Given the description of an element on the screen output the (x, y) to click on. 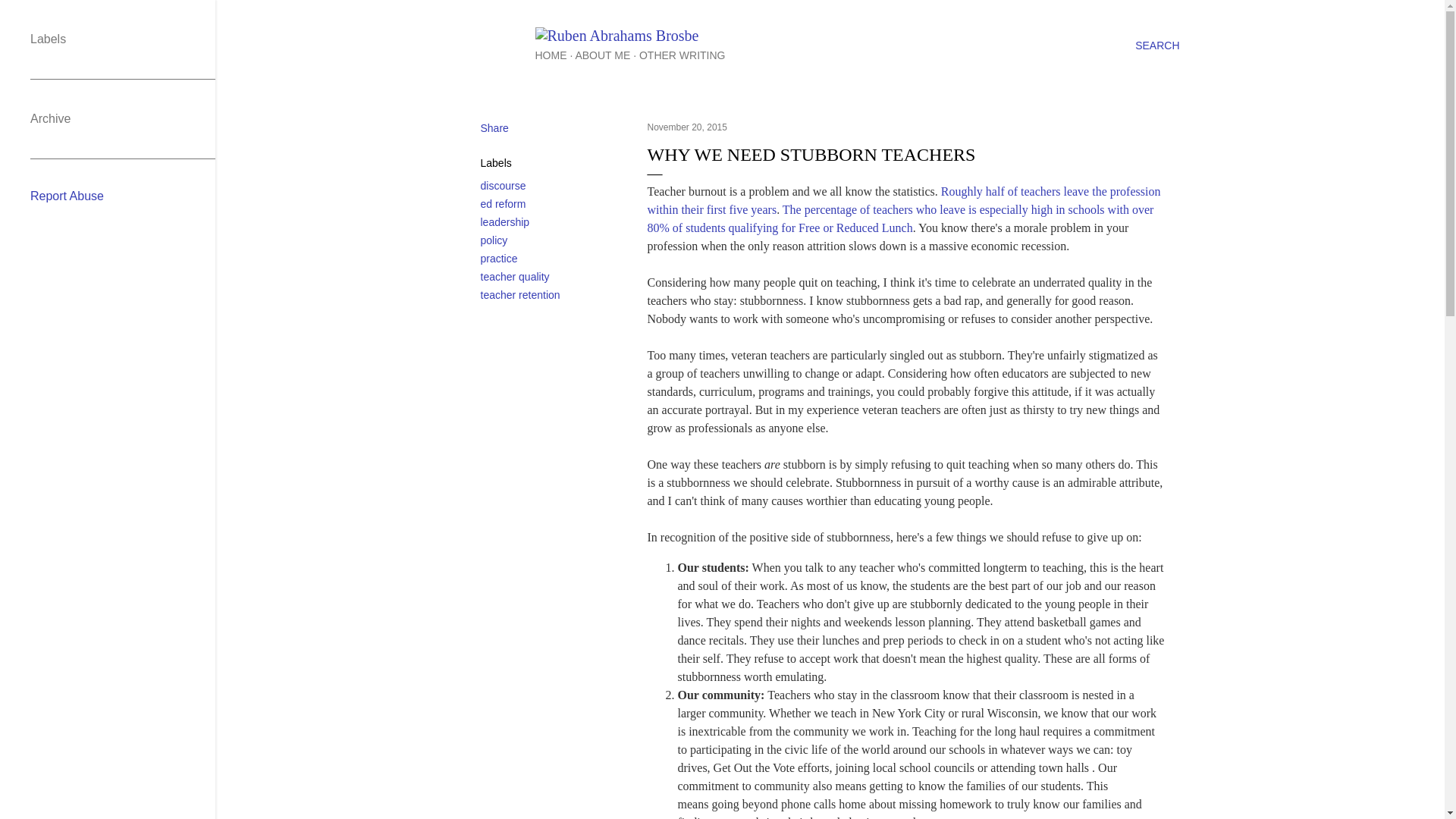
permanent link (686, 127)
OTHER WRITING (682, 55)
leadership (504, 222)
policy (494, 240)
teacher retention (520, 295)
ed reform (502, 203)
practice (499, 258)
SEARCH (1157, 45)
Share (494, 128)
ABOUT ME (602, 55)
teacher quality (515, 276)
HOME (551, 55)
discourse (502, 185)
November 20, 2015 (686, 127)
